Given the description of an element on the screen output the (x, y) to click on. 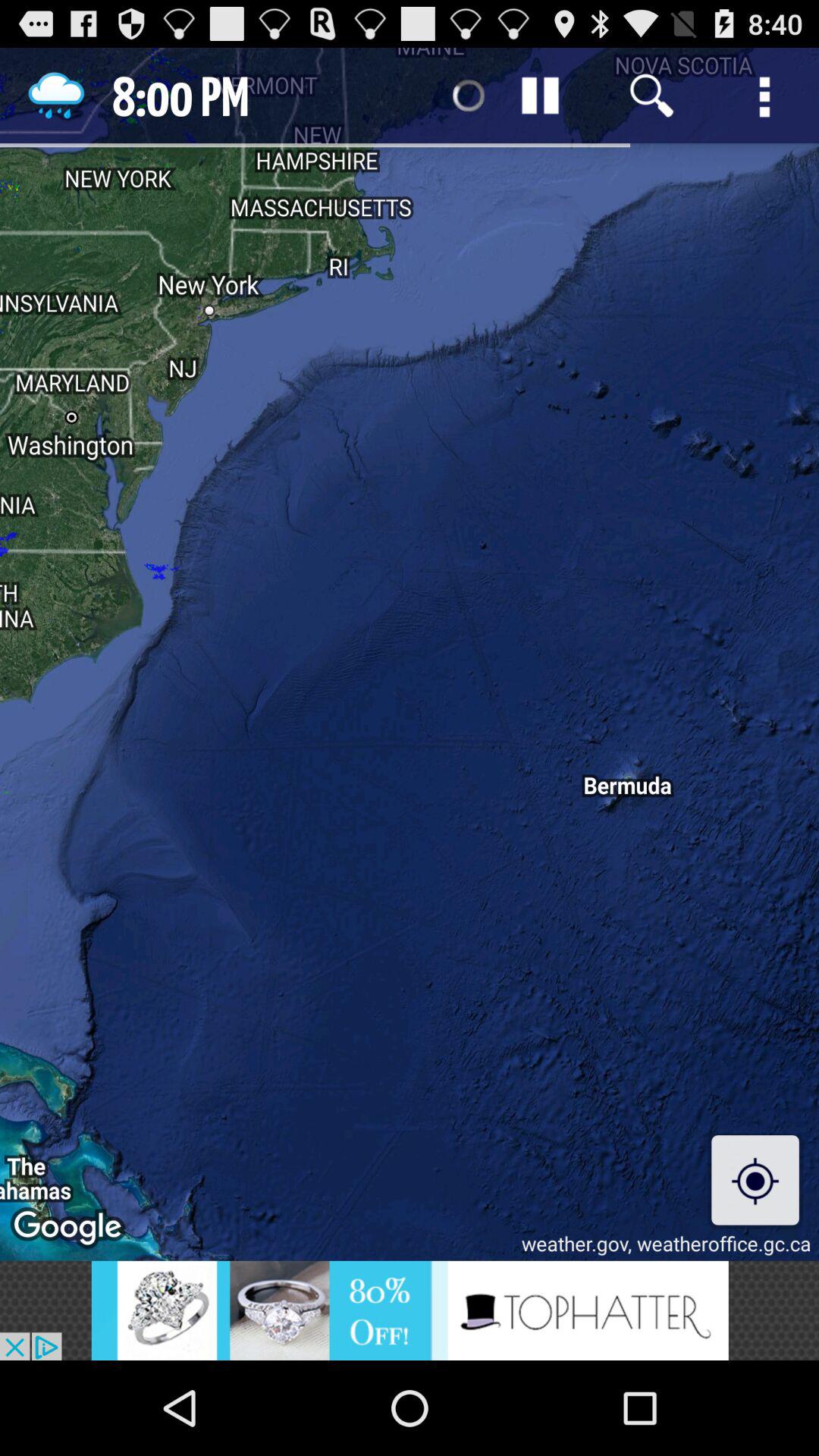
advertise bar (409, 1310)
